Given the description of an element on the screen output the (x, y) to click on. 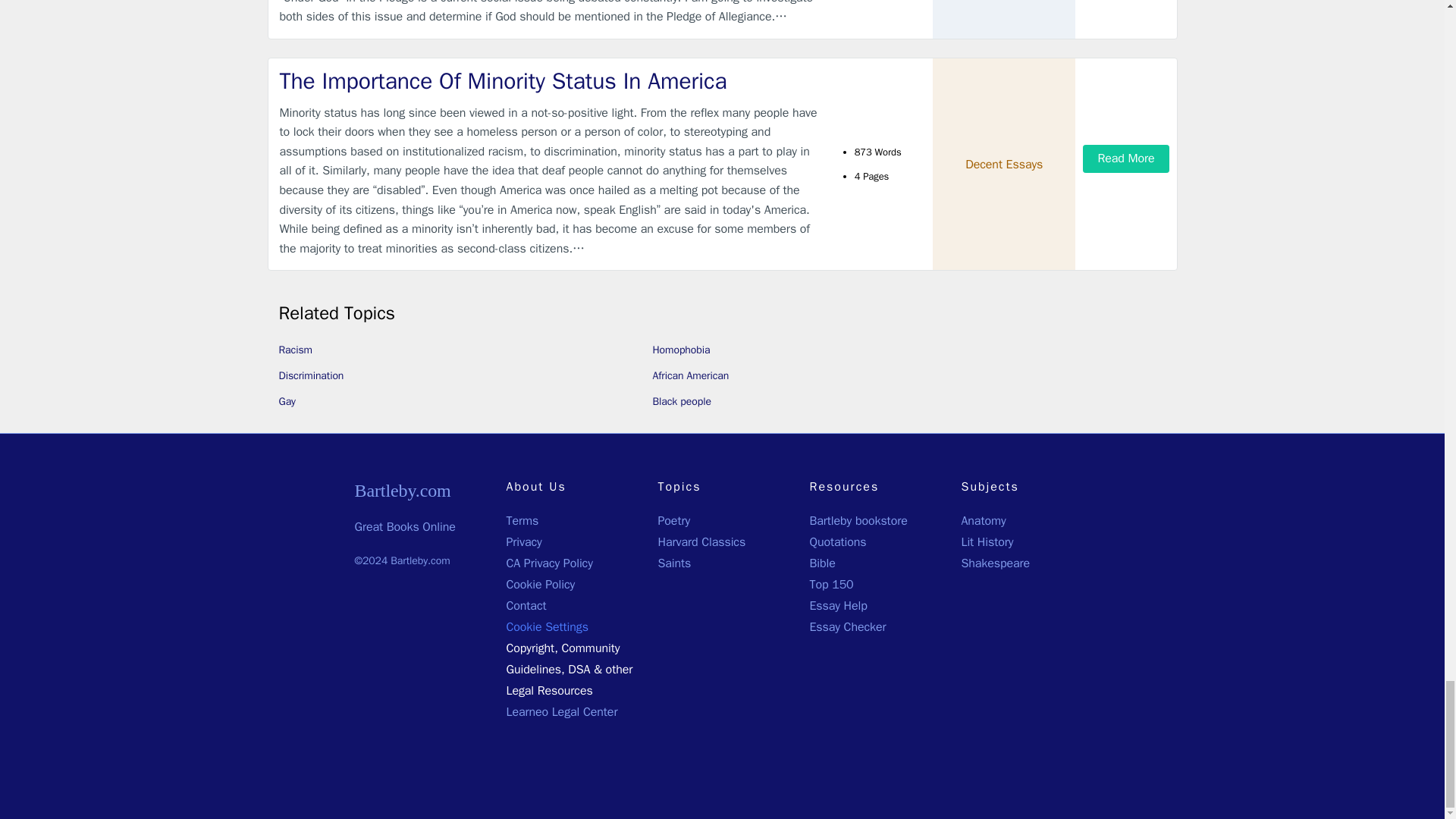
Racism (296, 349)
Discrimination (311, 375)
African American (690, 375)
Gay (287, 400)
Black people (681, 400)
Homophobia (681, 349)
